Given the description of an element on the screen output the (x, y) to click on. 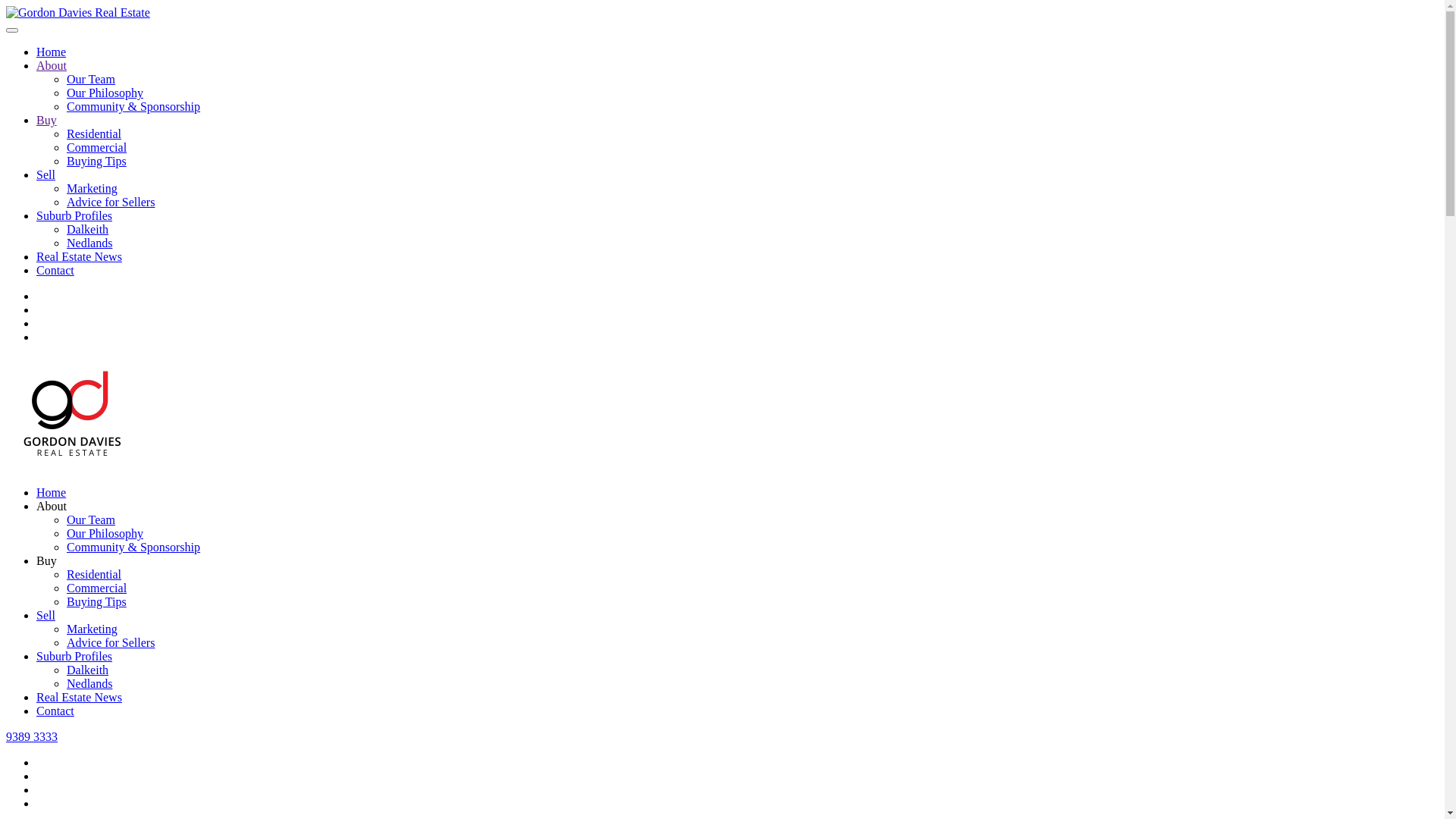
Marketing Element type: text (91, 188)
Home Element type: text (50, 51)
Nedlands Element type: text (89, 683)
9389 3333 Element type: text (31, 736)
Nedlands Element type: text (89, 242)
Buy Element type: text (46, 119)
Home Element type: text (50, 492)
Our Philosophy Element type: text (104, 533)
Community & Sponsorship Element type: text (133, 546)
Commercial Element type: text (96, 147)
Sell Element type: text (45, 174)
Advice for Sellers Element type: text (110, 201)
Our Team Element type: text (90, 78)
Community & Sponsorship Element type: text (133, 106)
Our Team Element type: text (90, 519)
Advice for Sellers Element type: text (110, 642)
About Element type: text (51, 65)
Marketing Element type: text (91, 628)
Our Philosophy Element type: text (104, 92)
Commercial Element type: text (96, 587)
Contact Element type: text (55, 269)
Residential Element type: text (93, 133)
Sell Element type: text (45, 614)
Suburb Profiles Element type: text (74, 655)
Real Estate News Element type: text (79, 256)
Dalkeith Element type: text (87, 228)
Real Estate News Element type: text (79, 696)
Suburb Profiles Element type: text (74, 215)
Contact Element type: text (55, 710)
Buying Tips Element type: text (96, 601)
Dalkeith Element type: text (87, 669)
Residential Element type: text (93, 573)
Buying Tips Element type: text (96, 160)
About Element type: text (51, 505)
Buy Element type: text (46, 560)
